Given the description of an element on the screen output the (x, y) to click on. 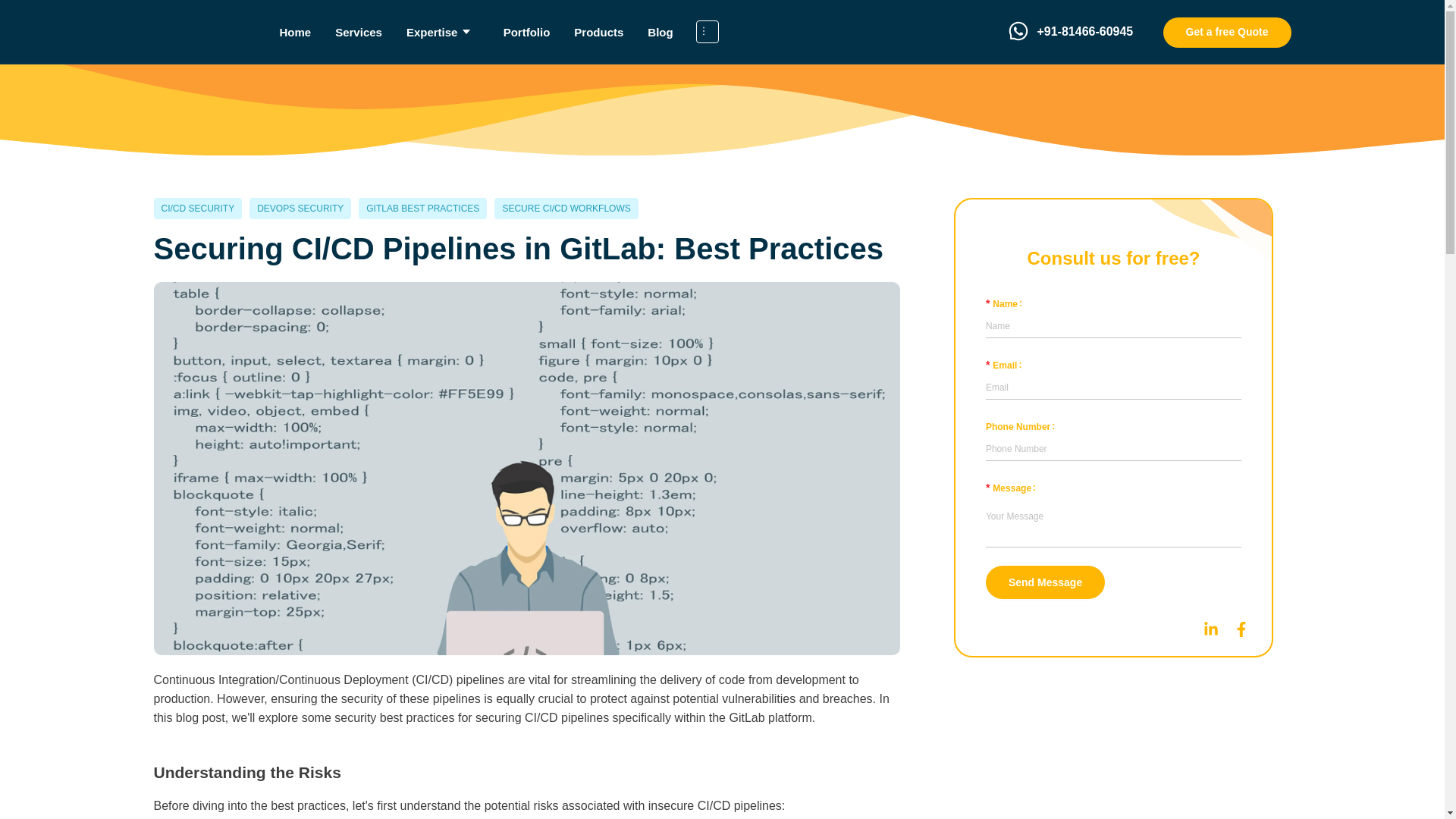
Send Message (1045, 581)
Portfolio (527, 31)
Get a free Quote (1227, 31)
Phone Number (1023, 426)
DEVOPS SECURITY (299, 208)
Blog (660, 31)
Expertise (442, 31)
Message (1013, 488)
Name (1006, 303)
GITLAB BEST PRACTICES (422, 208)
